Given the description of an element on the screen output the (x, y) to click on. 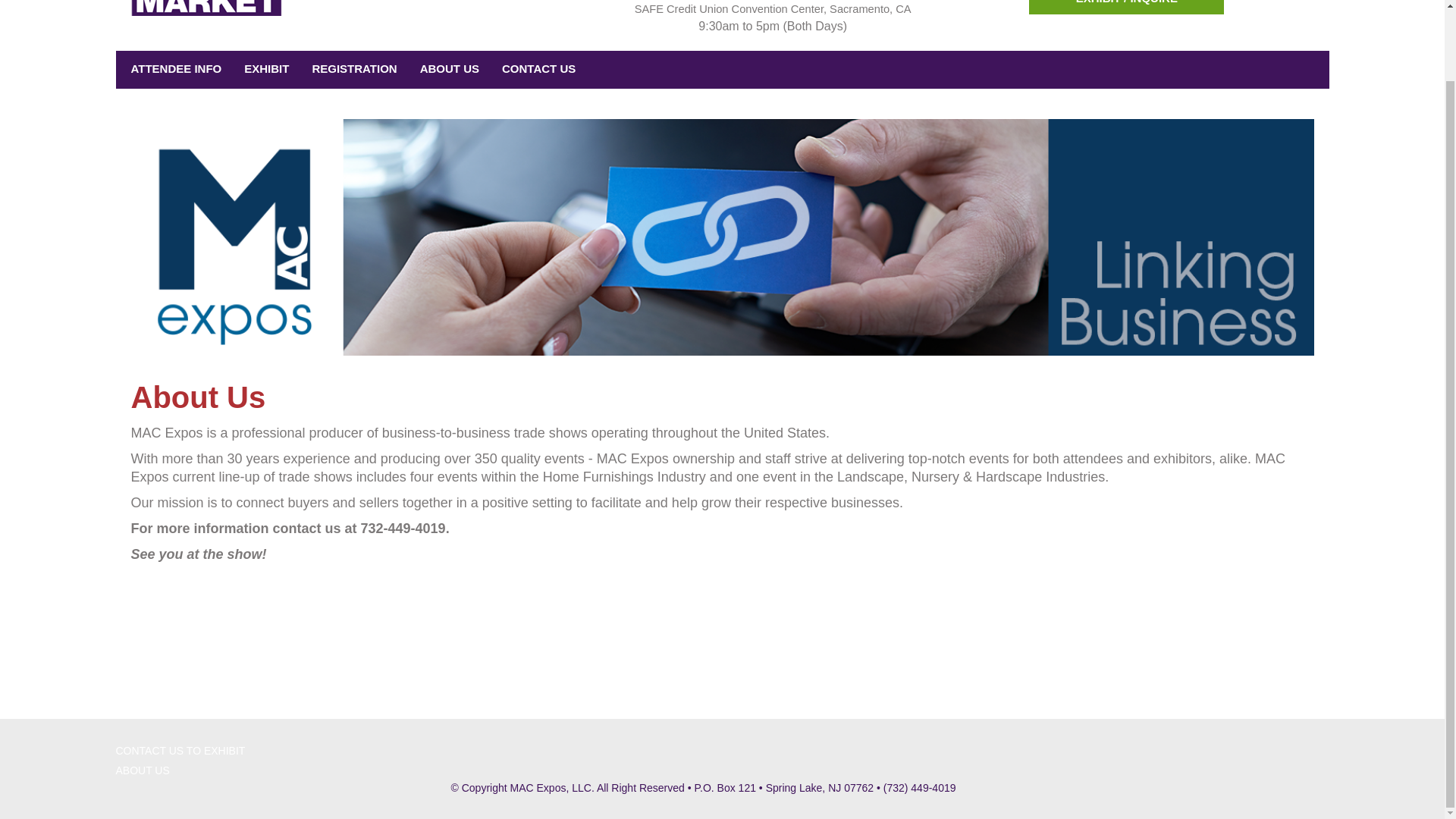
REGISTRATION (350, 68)
CONTACT US (534, 68)
CONTACT US TO EXHIBIT (315, 751)
EXHIBIT (262, 68)
ABOUT US (445, 68)
ATTENDEE INFO (171, 68)
ABOUT US (315, 771)
